Given the description of an element on the screen output the (x, y) to click on. 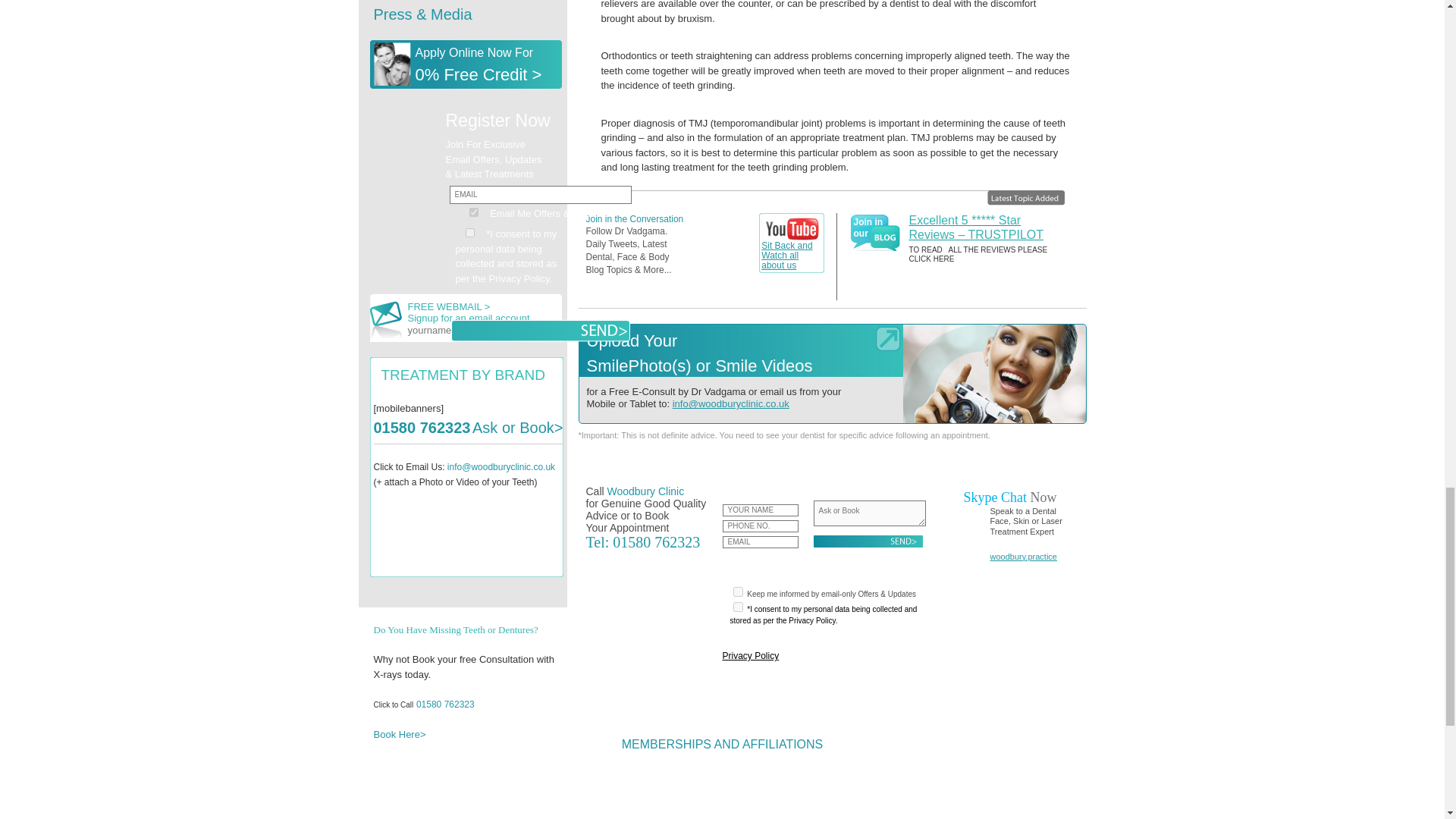
Send (866, 541)
Send (538, 331)
